Given the description of an element on the screen output the (x, y) to click on. 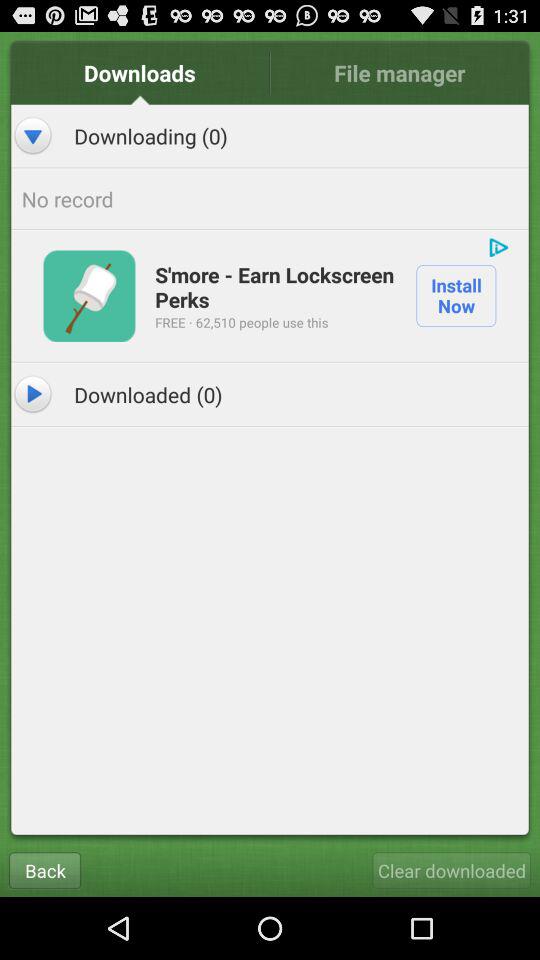
choose item next to install now app (241, 322)
